Given the description of an element on the screen output the (x, y) to click on. 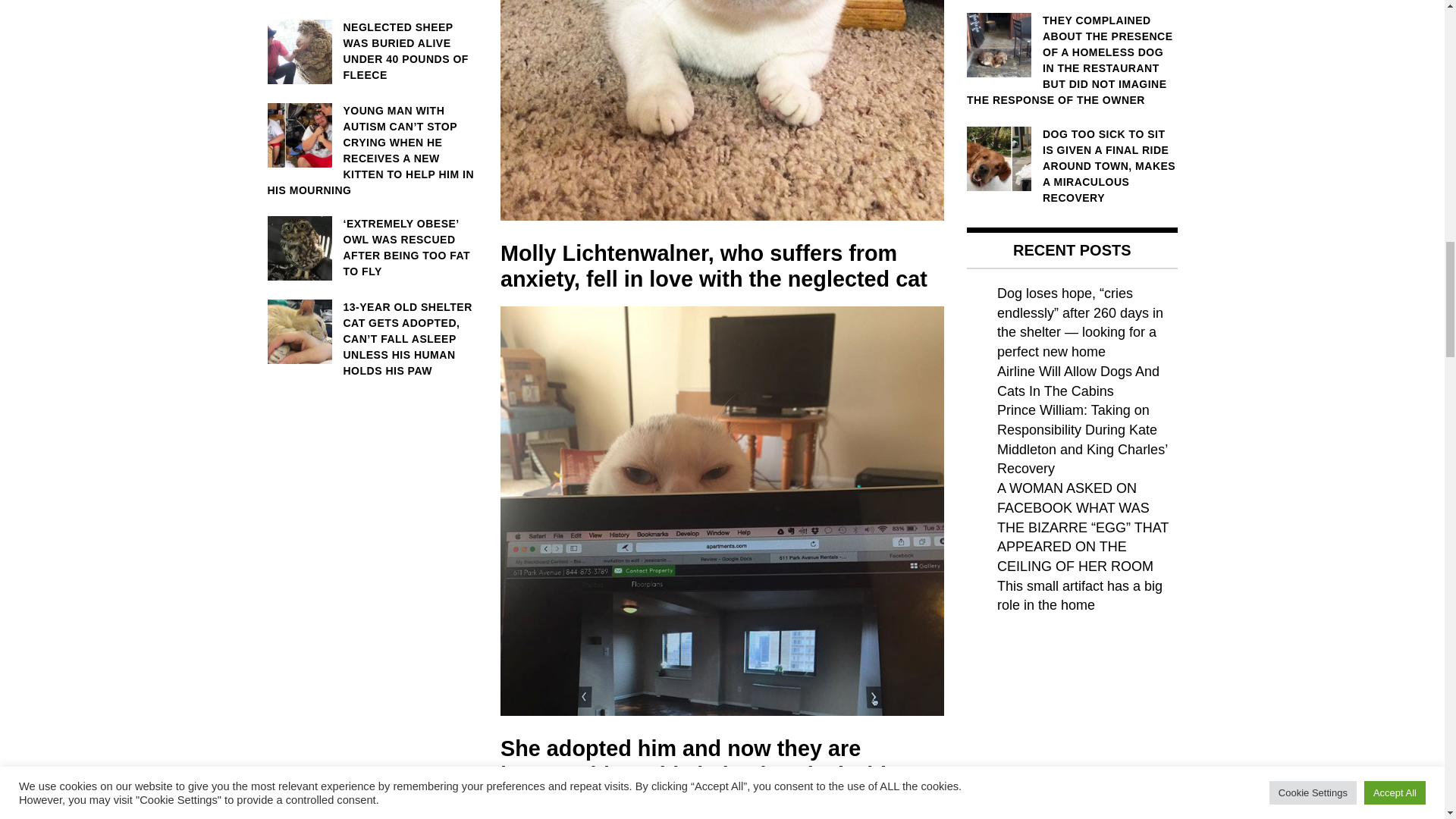
NEGLECTED SHEEP WAS BURIED ALIVE UNDER 40 POUNDS OF FLEECE (371, 51)
